Given the description of an element on the screen output the (x, y) to click on. 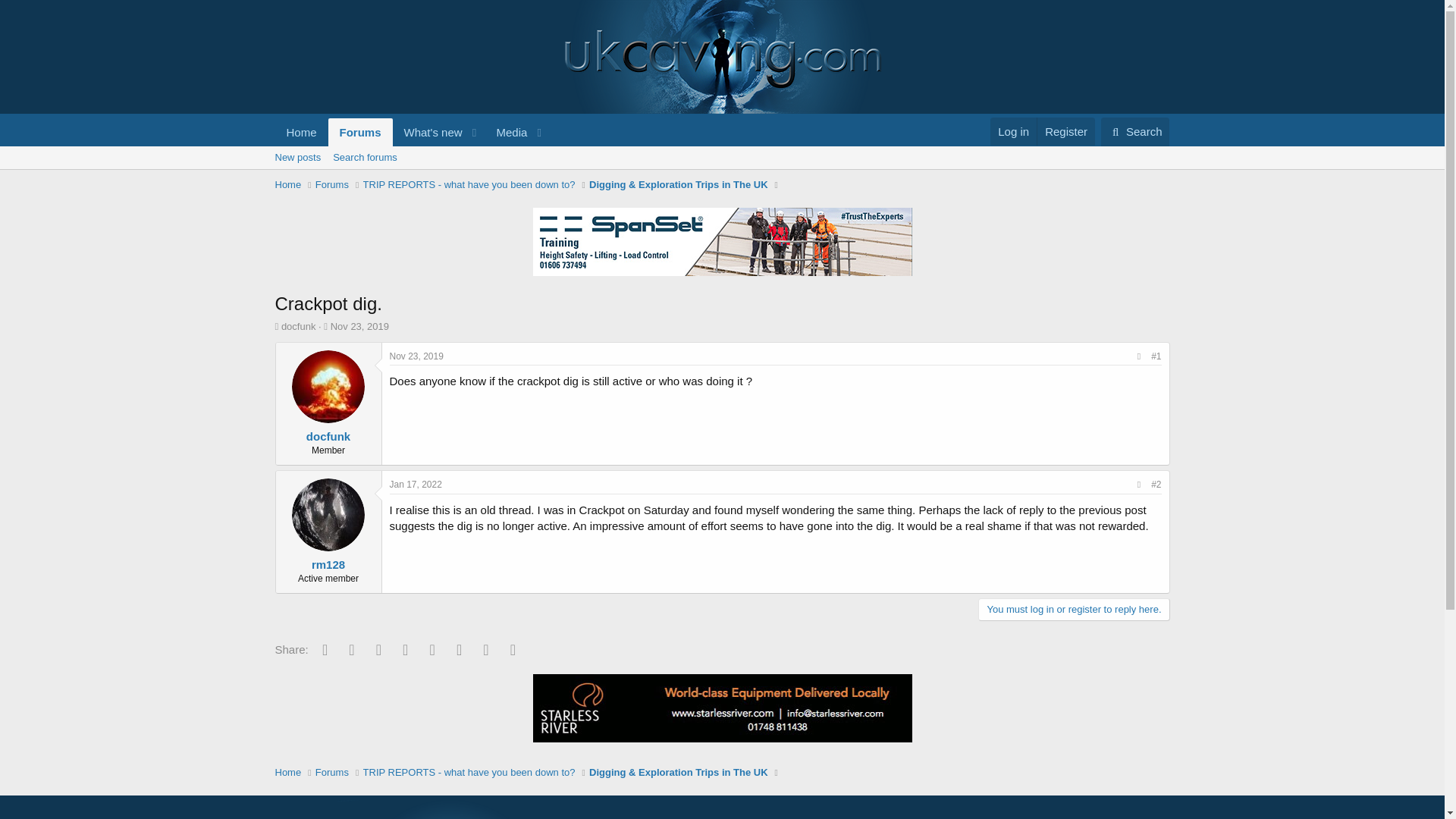
Jan 17, 2022 at 4:49 PM (416, 484)
Register (1065, 131)
docfunk (298, 326)
What's new (428, 131)
Search (1135, 131)
Forums (361, 131)
Search forums (364, 157)
Forums (332, 184)
Nov 23, 2019 (411, 131)
Media (359, 326)
Nov 23, 2019 at 10:44 AM (506, 131)
Search (359, 326)
Log in (1135, 131)
